Given the description of an element on the screen output the (x, y) to click on. 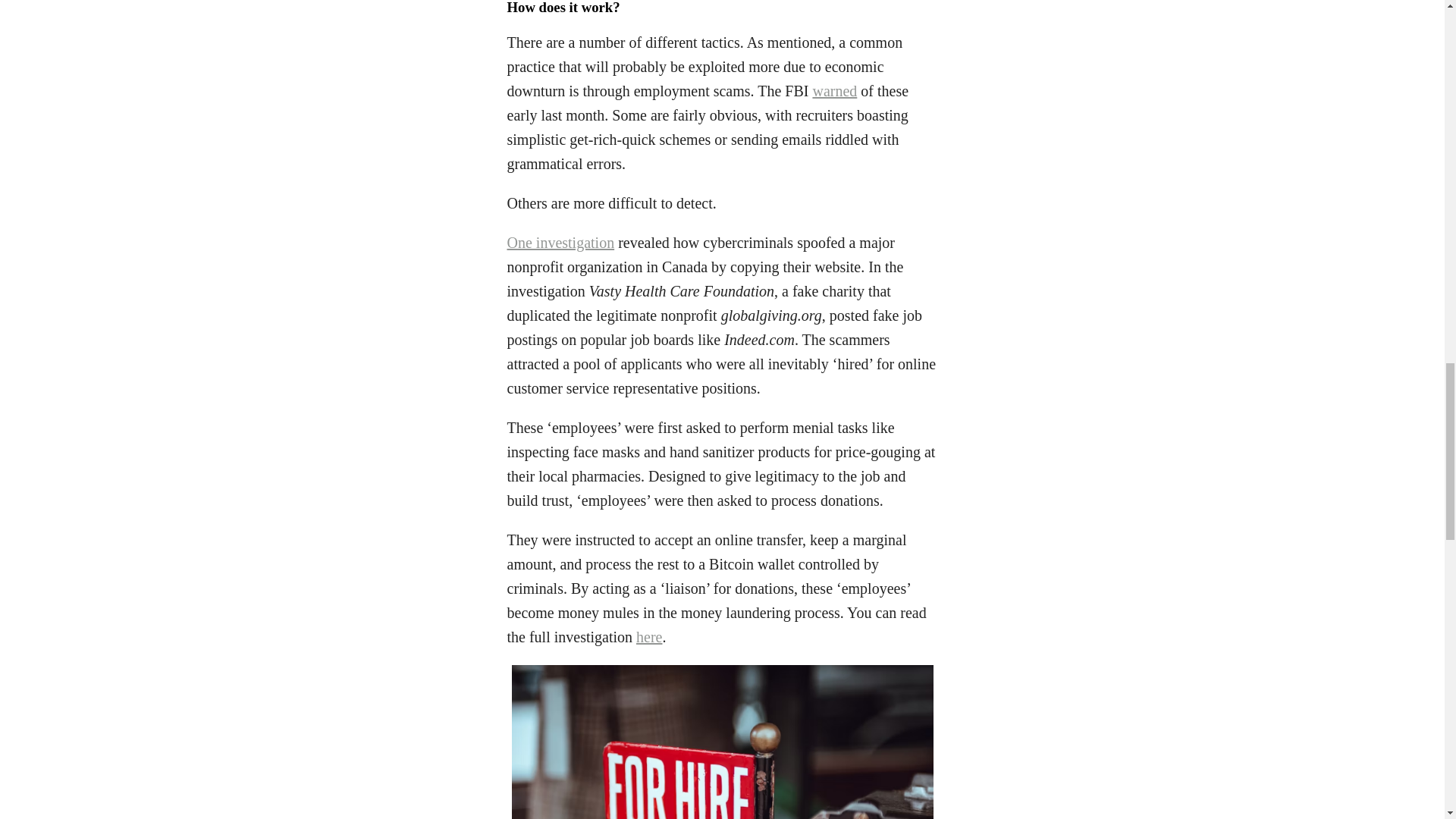
here (649, 636)
One investigation (560, 242)
warned (834, 90)
